Given the description of an element on the screen output the (x, y) to click on. 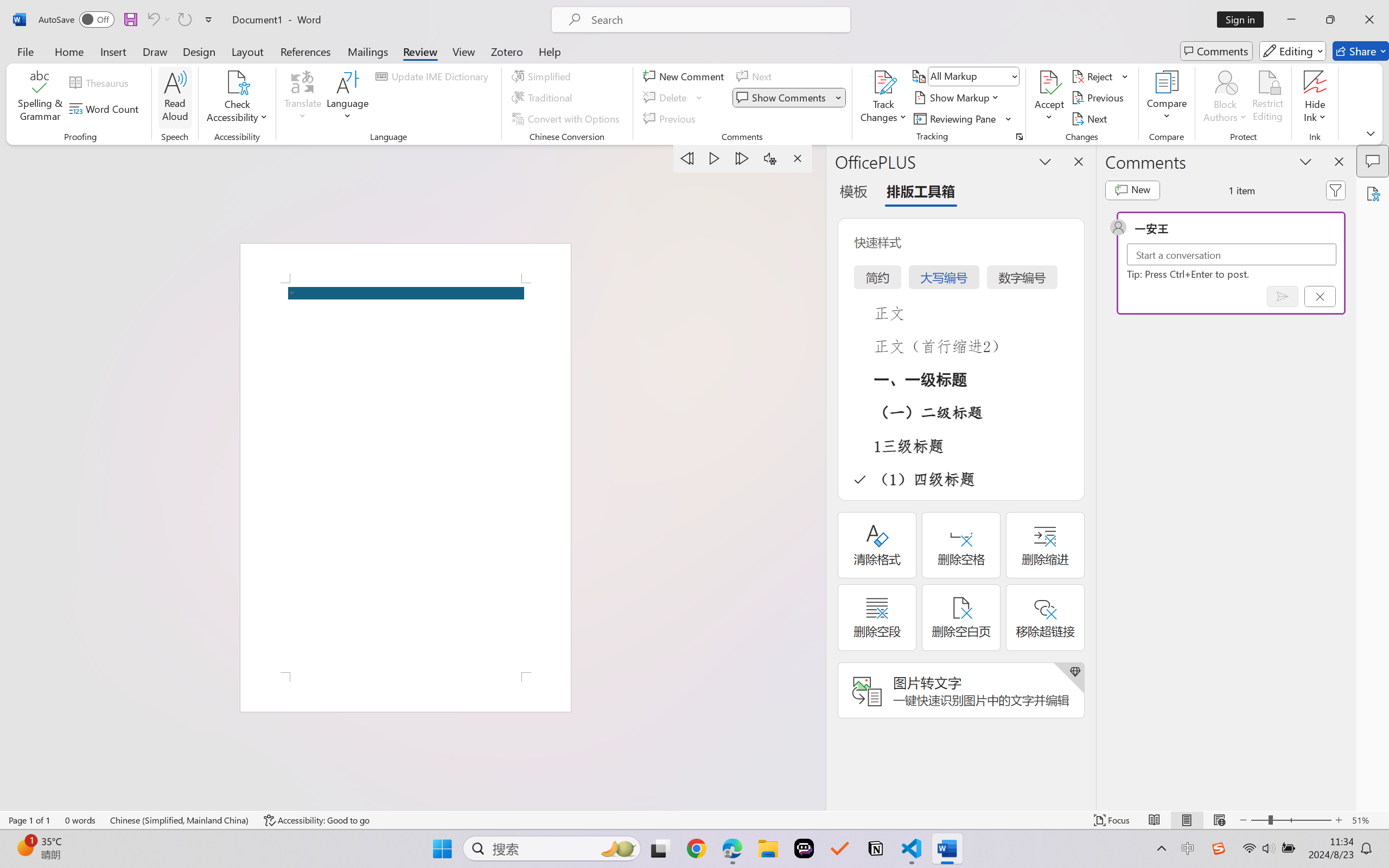
Start a conversation (1231, 254)
Traditional (543, 97)
Translate (303, 97)
Cancel (1320, 296)
Show Markup (957, 97)
